Given the description of an element on the screen output the (x, y) to click on. 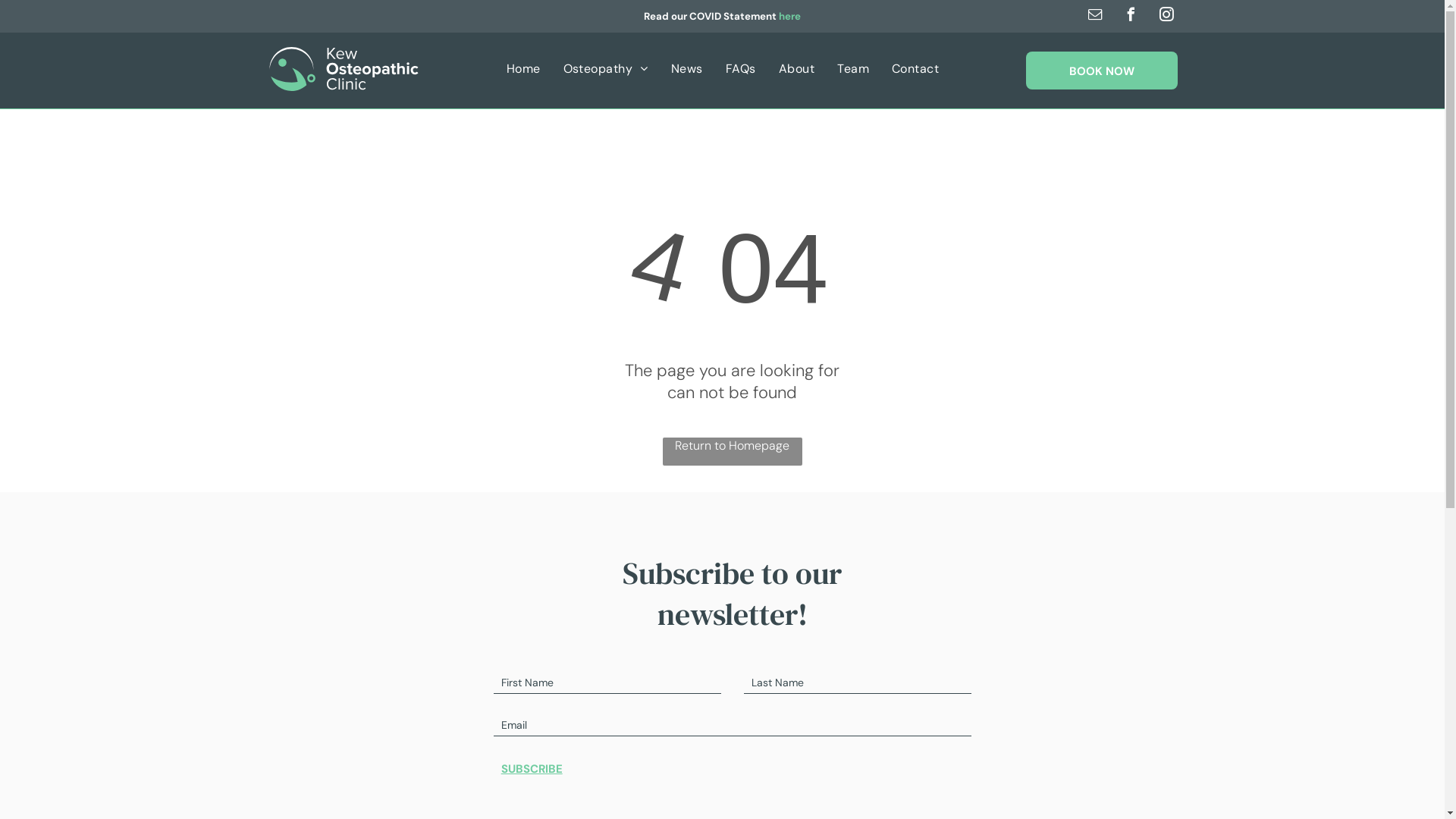
Contact Element type: text (915, 68)
Team Element type: text (852, 68)
here Element type: text (789, 15)
News Element type: text (686, 68)
About Element type: text (796, 68)
Osteopathy Element type: text (605, 68)
BOOK NOW Element type: text (1100, 70)
Home Element type: text (523, 68)
SUBSCRIBE Element type: text (597, 768)
FAQs Element type: text (740, 68)
Return to Homepage Element type: text (732, 451)
